Given the description of an element on the screen output the (x, y) to click on. 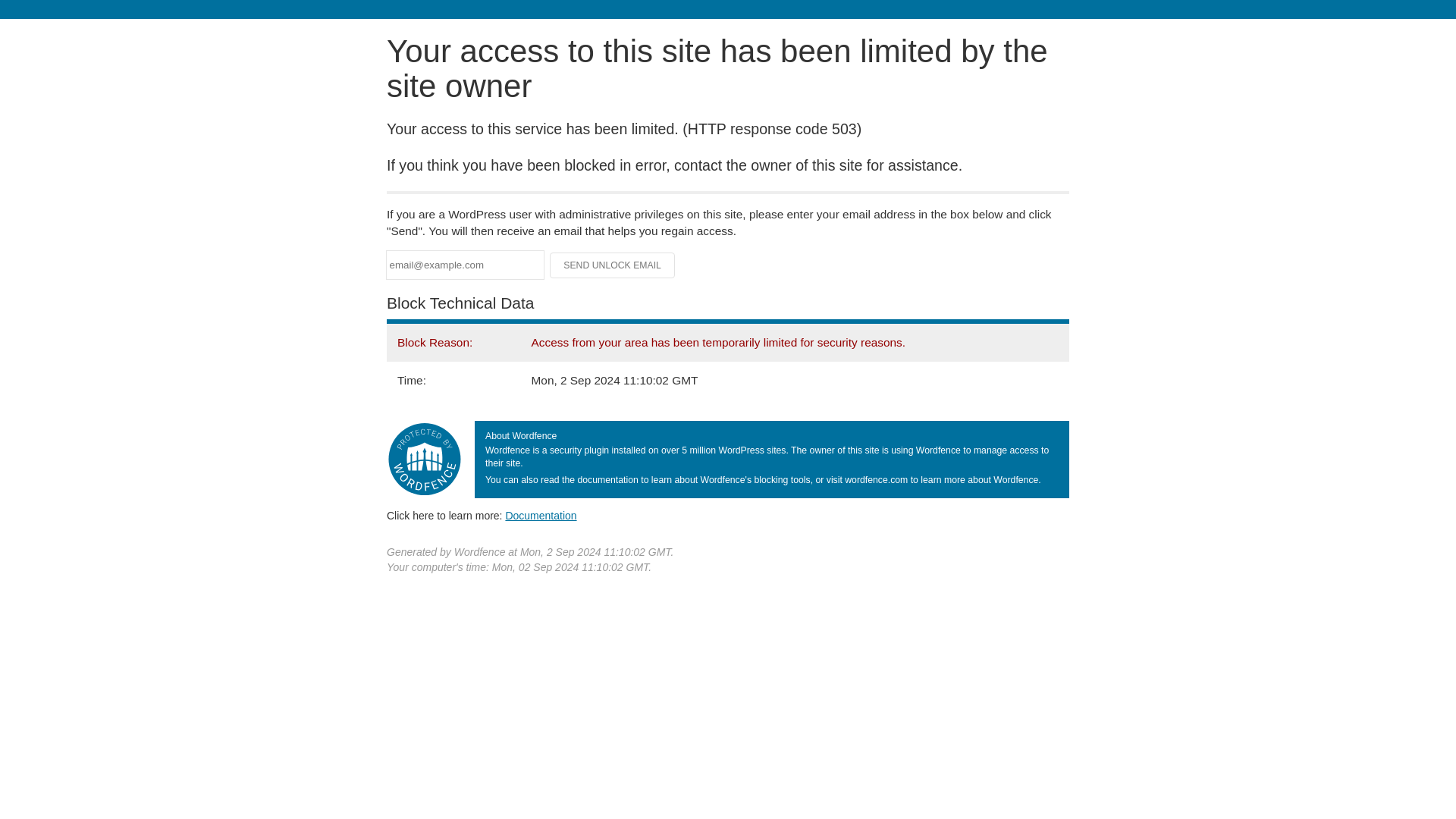
Send Unlock Email (612, 265)
Documentation (540, 515)
Send Unlock Email (612, 265)
